Given the description of an element on the screen output the (x, y) to click on. 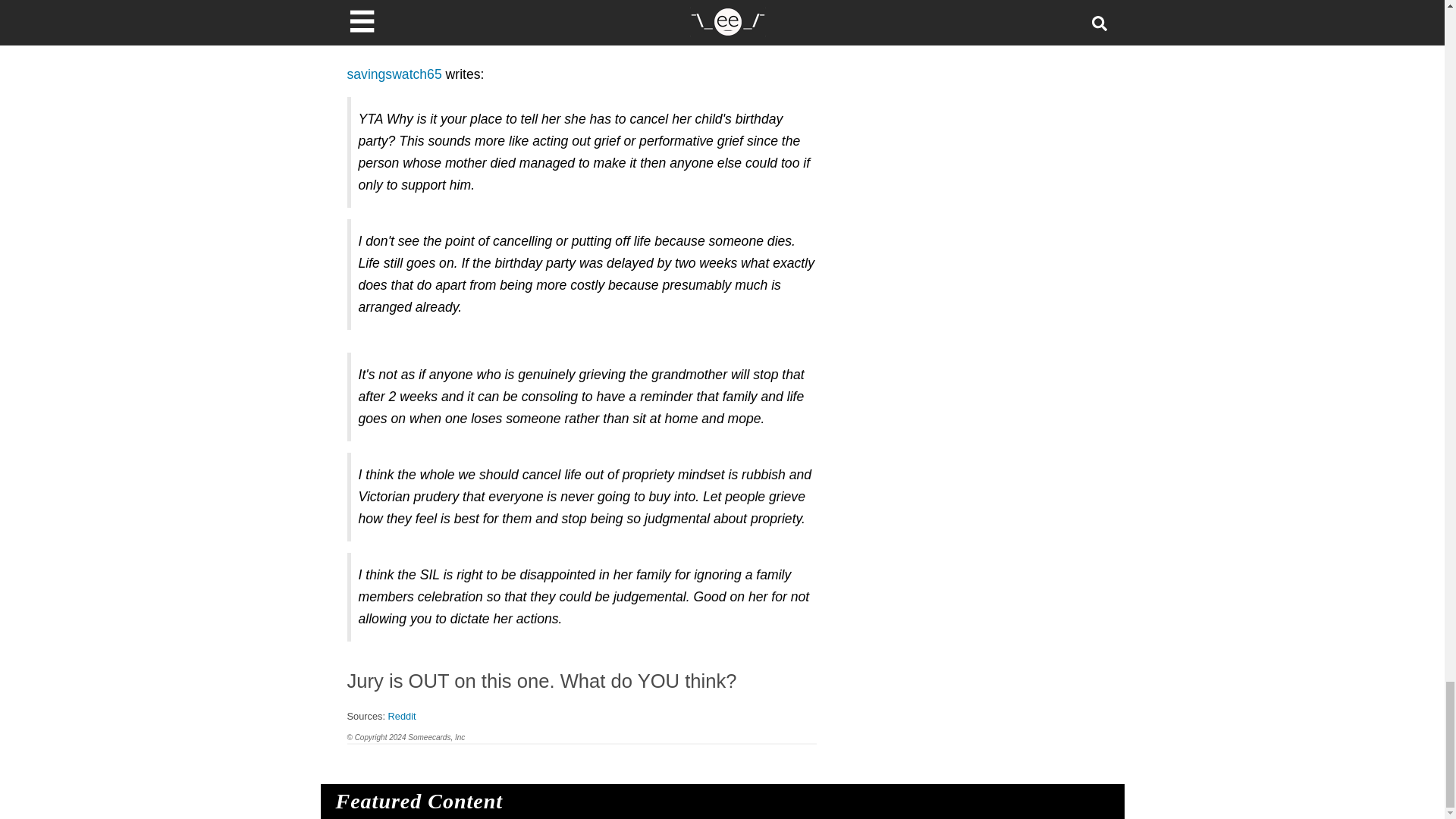
Reddit (402, 715)
savingswatch65 (394, 73)
